Given the description of an element on the screen output the (x, y) to click on. 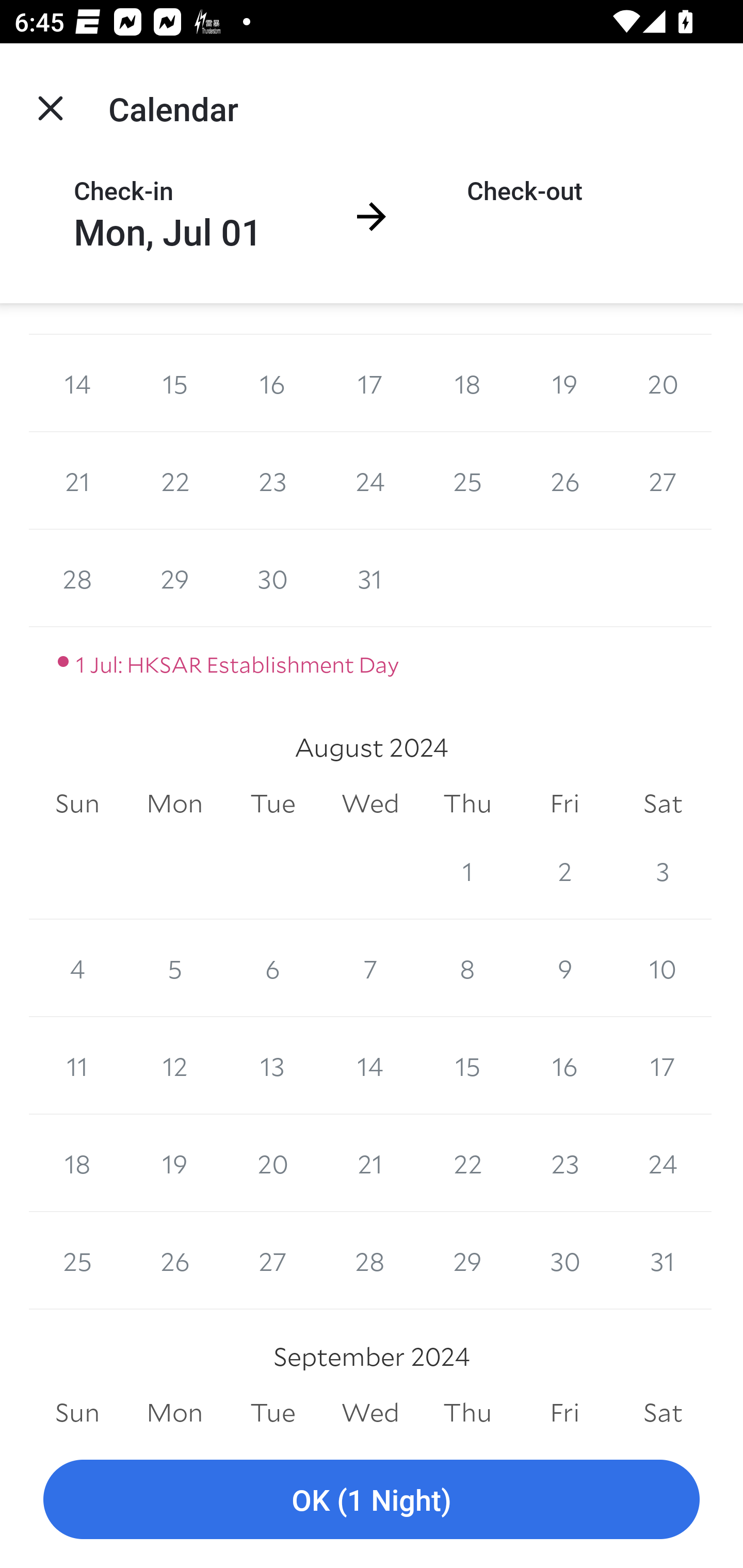
14 14 July 2024 (77, 382)
15 15 July 2024 (174, 382)
16 16 July 2024 (272, 382)
17 17 July 2024 (370, 382)
18 18 July 2024 (467, 382)
19 19 July 2024 (564, 382)
20 20 July 2024 (662, 382)
21 21 July 2024 (77, 480)
22 22 July 2024 (174, 480)
23 23 July 2024 (272, 480)
24 24 July 2024 (370, 480)
25 25 July 2024 (467, 480)
26 26 July 2024 (564, 480)
27 27 July 2024 (662, 480)
28 28 July 2024 (77, 578)
29 29 July 2024 (174, 578)
30 30 July 2024 (272, 578)
31 31 July 2024 (370, 578)
Sun (77, 803)
Mon (174, 803)
Tue (272, 803)
Wed (370, 803)
Thu (467, 803)
Fri (564, 803)
Sat (662, 803)
1 1 August 2024 (467, 870)
2 2 August 2024 (564, 870)
3 3 August 2024 (662, 870)
4 4 August 2024 (77, 968)
5 5 August 2024 (174, 968)
6 6 August 2024 (272, 968)
7 7 August 2024 (370, 968)
8 8 August 2024 (467, 968)
9 9 August 2024 (564, 968)
10 10 August 2024 (662, 968)
11 11 August 2024 (77, 1065)
12 12 August 2024 (174, 1065)
13 13 August 2024 (272, 1065)
14 14 August 2024 (370, 1065)
15 15 August 2024 (467, 1065)
16 16 August 2024 (564, 1065)
17 17 August 2024 (662, 1065)
18 18 August 2024 (77, 1163)
19 19 August 2024 (174, 1163)
20 20 August 2024 (272, 1163)
21 21 August 2024 (370, 1163)
22 22 August 2024 (467, 1163)
23 23 August 2024 (564, 1163)
24 24 August 2024 (662, 1163)
